Given the description of an element on the screen output the (x, y) to click on. 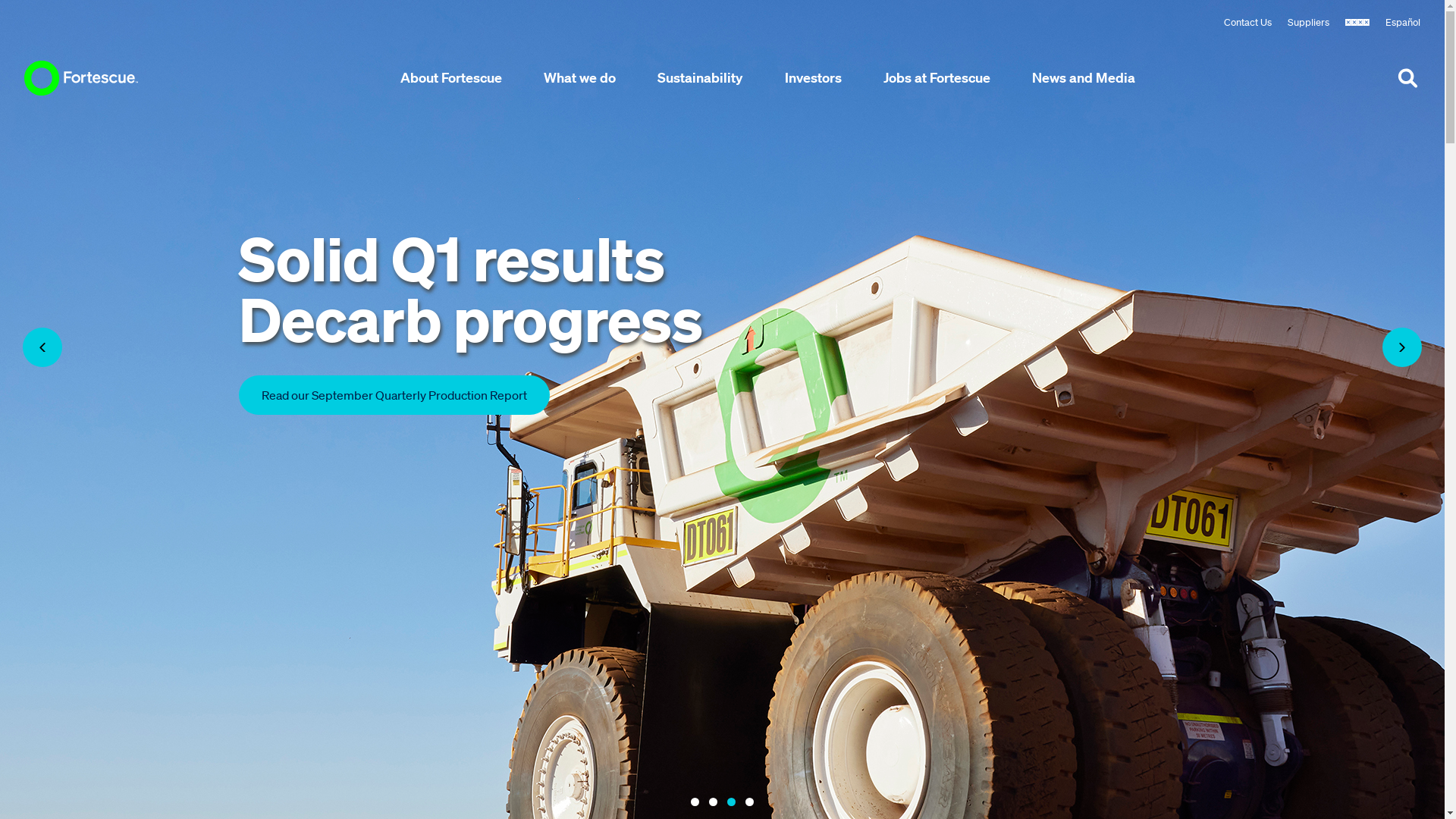
Sustainability Element type: text (699, 77)
Read our September Quarterly Production Report Element type: text (393, 394)
Suppliers Element type: text (1308, 24)
What we do Element type: text (579, 77)
Contact Us Element type: text (1247, 24)
Investors Element type: text (812, 77)
Jobs at Fortescue Element type: text (936, 77)
News and Media Element type: text (1083, 77)
About Fortescue Element type: text (451, 77)
